Given the description of an element on the screen output the (x, y) to click on. 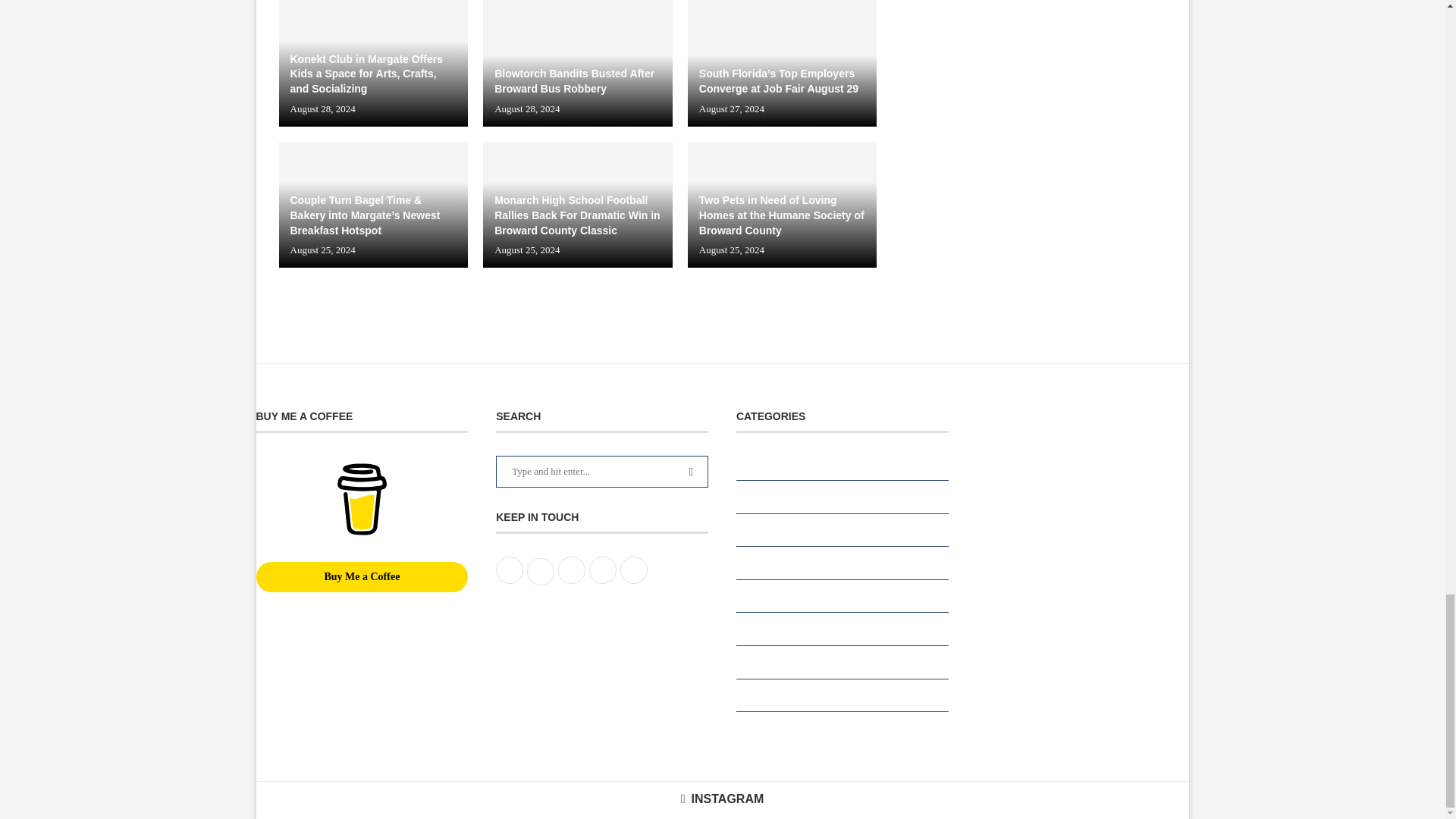
Blowtorch Bandits Busted After Broward Bus Robbery (577, 63)
